Given the description of an element on the screen output the (x, y) to click on. 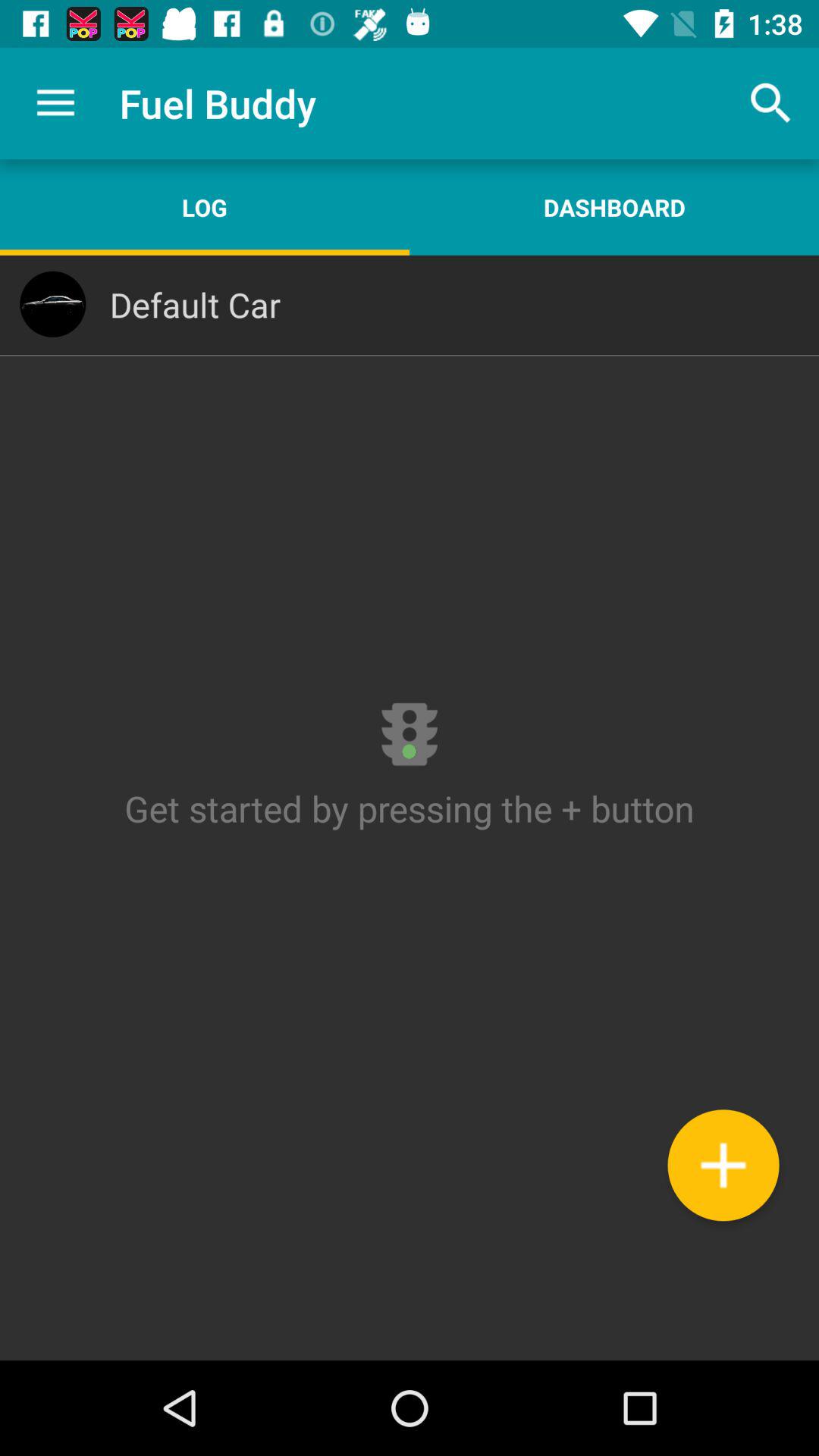
tap the item above the default car icon (204, 207)
